Given the description of an element on the screen output the (x, y) to click on. 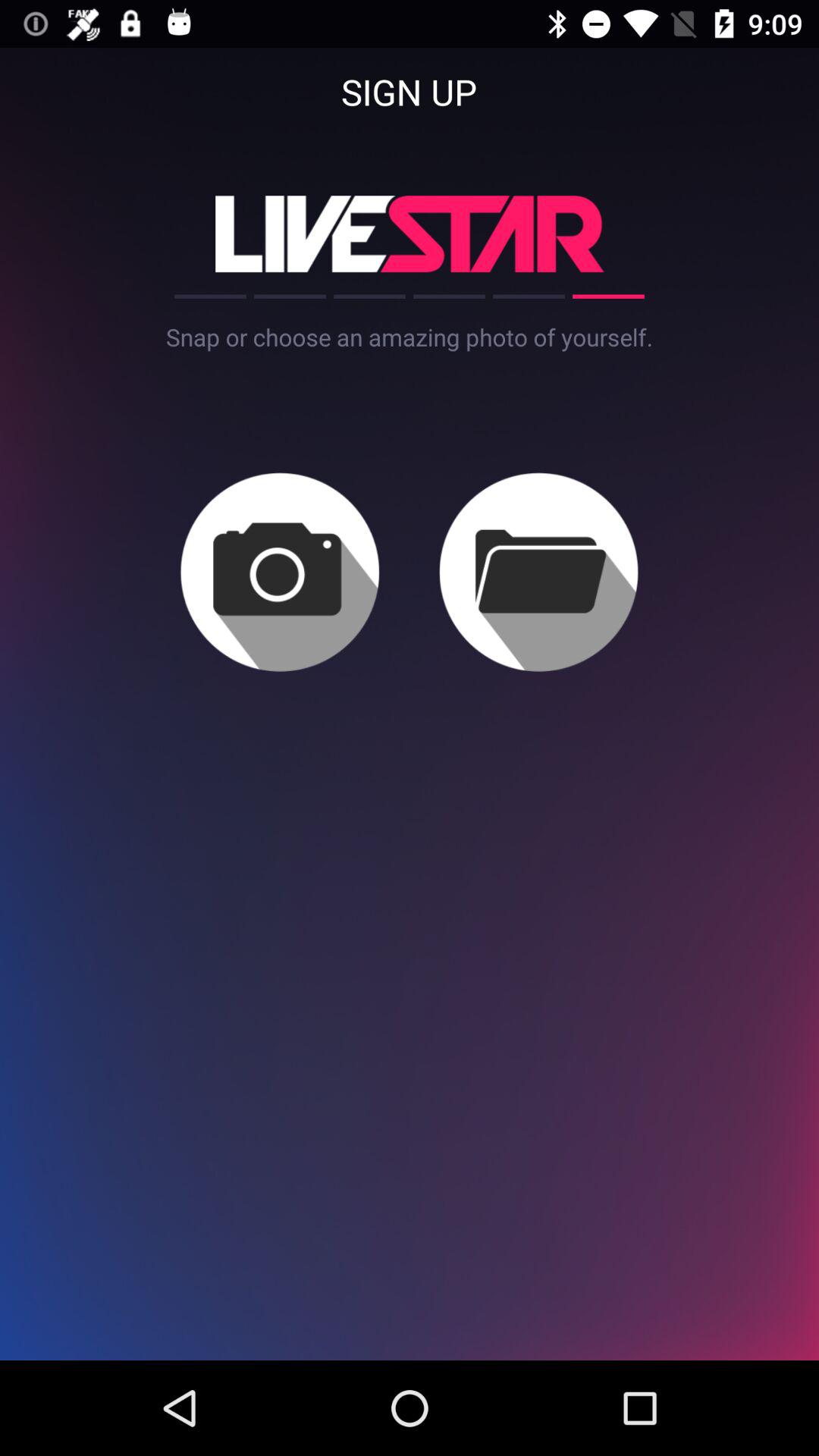
tap icon below the snap or choose item (279, 571)
